Given the description of an element on the screen output the (x, y) to click on. 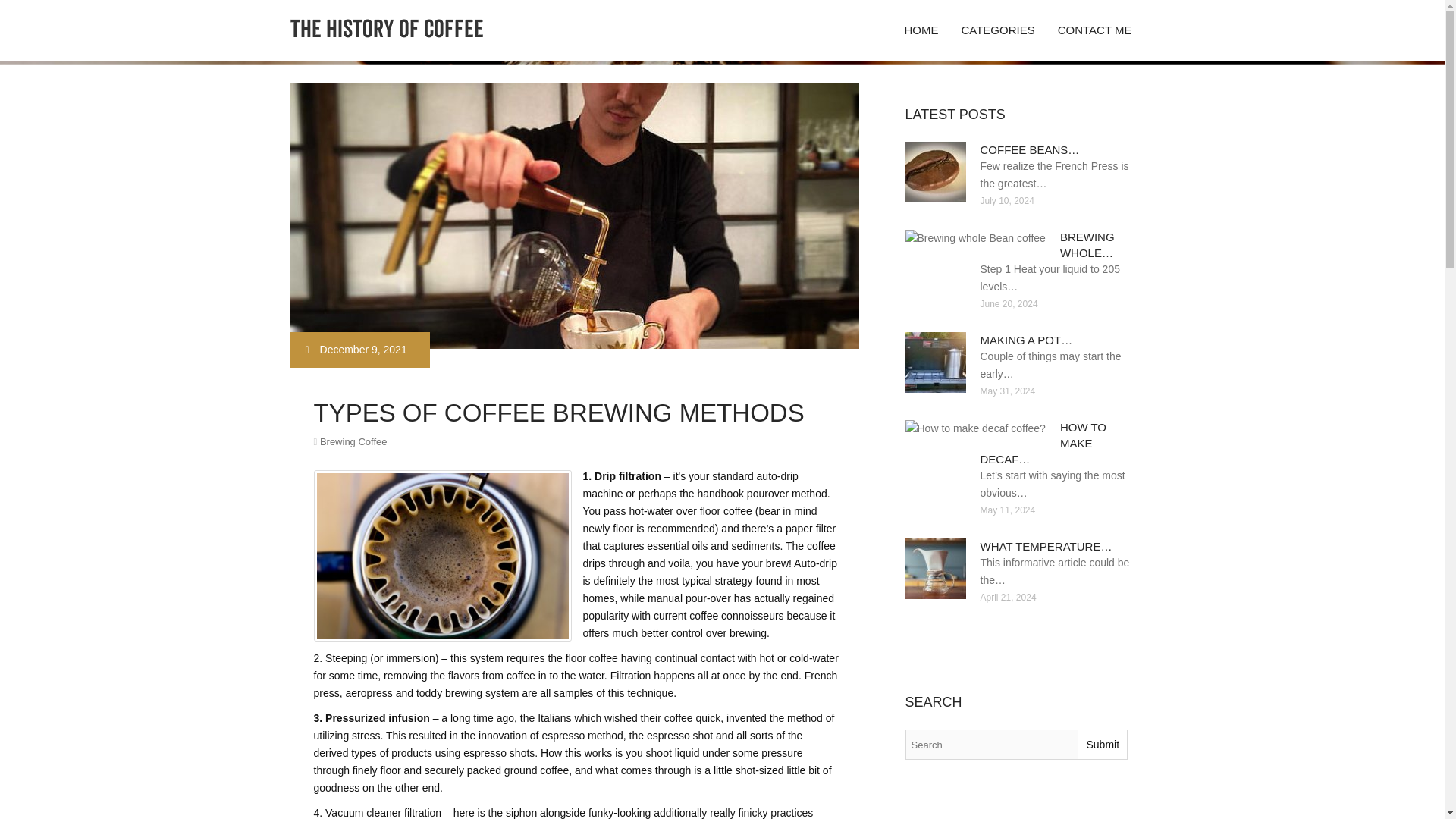
Brewing Coffee (353, 441)
HOME (920, 30)
Submit (1101, 744)
CONTACT ME (1094, 30)
CATEGORIES (997, 30)
